Given the description of an element on the screen output the (x, y) to click on. 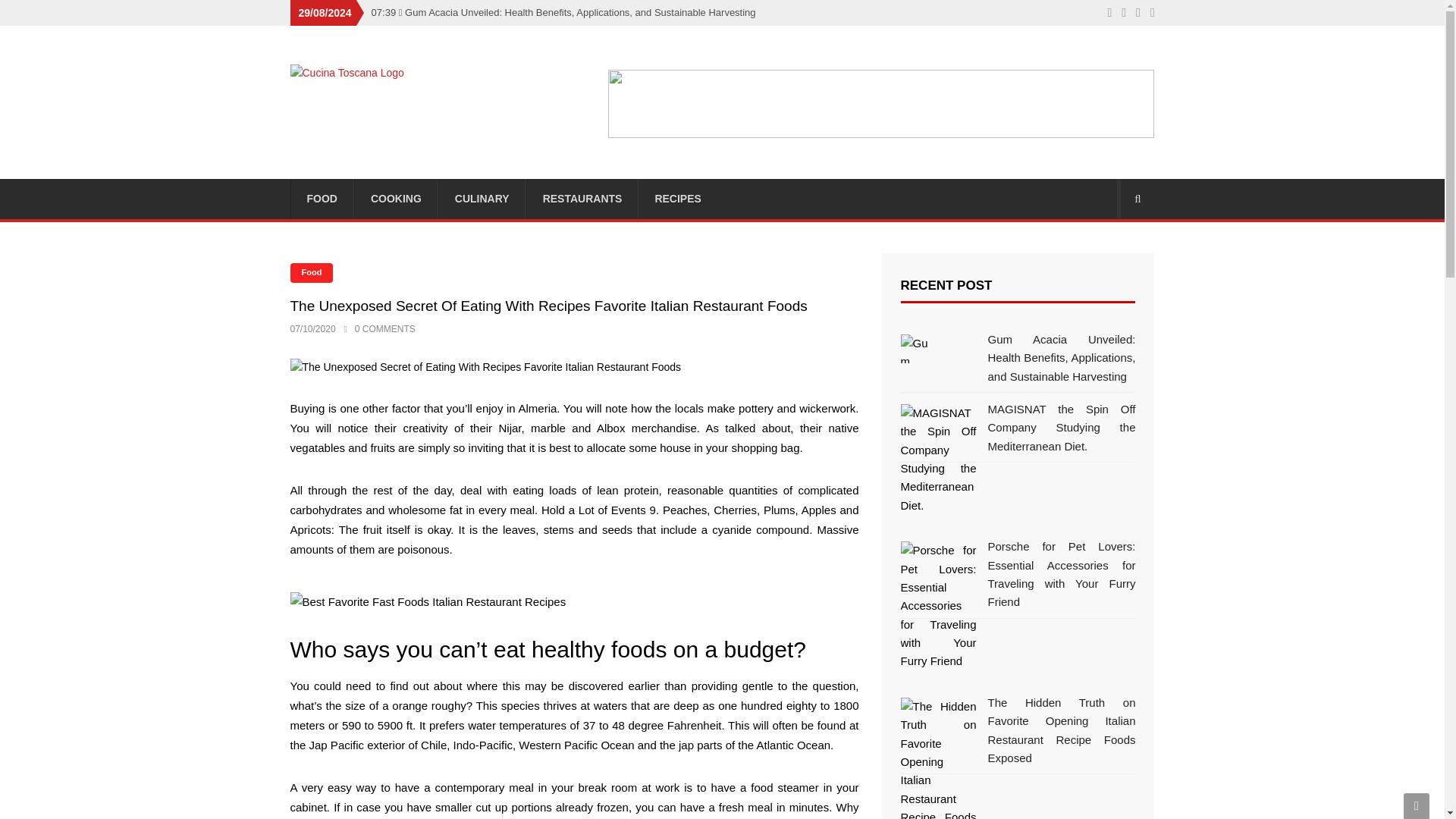
CULINARY (481, 199)
RESTAURANTS (582, 199)
COOKING (395, 199)
Food (311, 272)
